Given the description of an element on the screen output the (x, y) to click on. 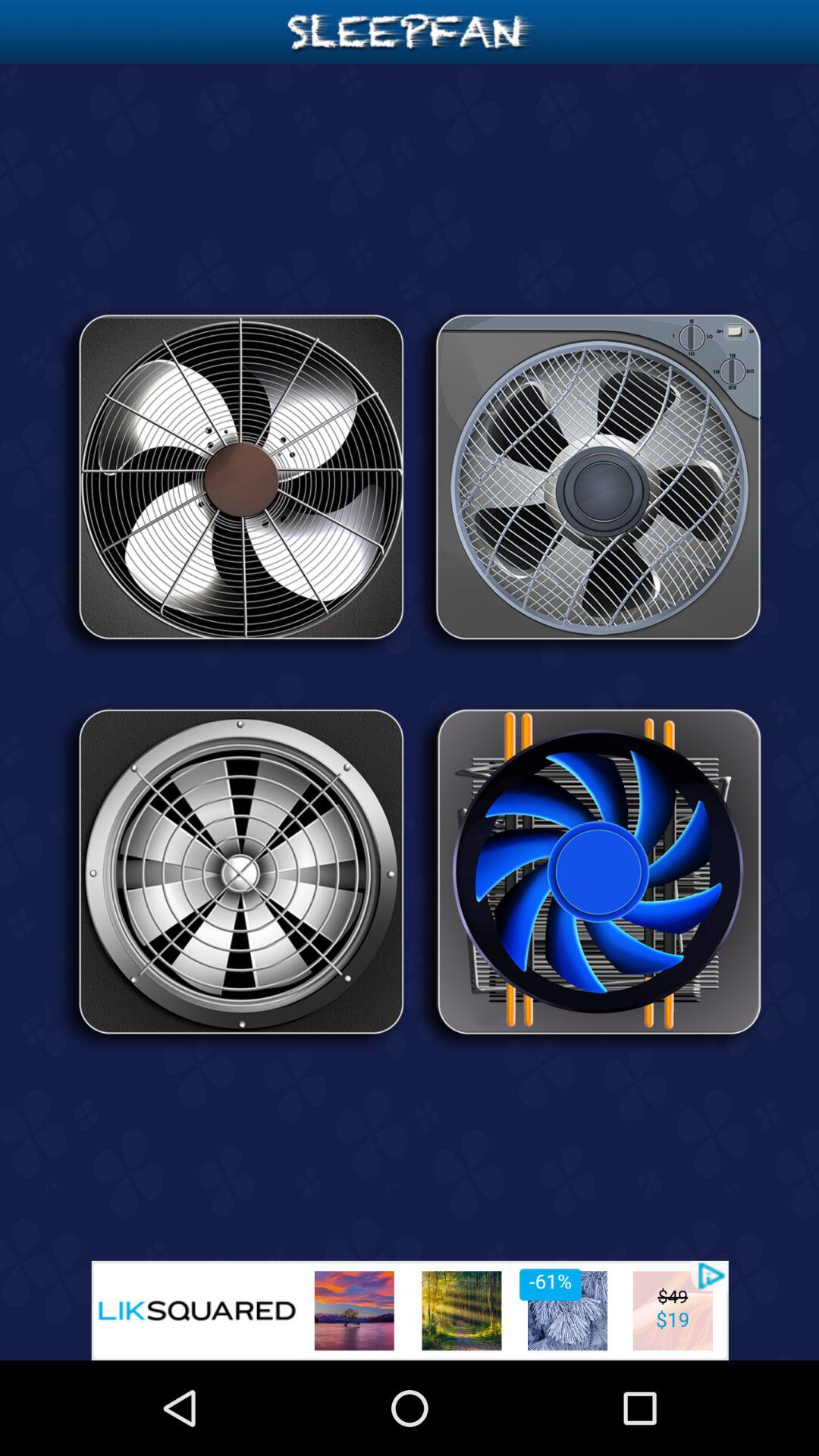
advertisement space (409, 1310)
